Given the description of an element on the screen output the (x, y) to click on. 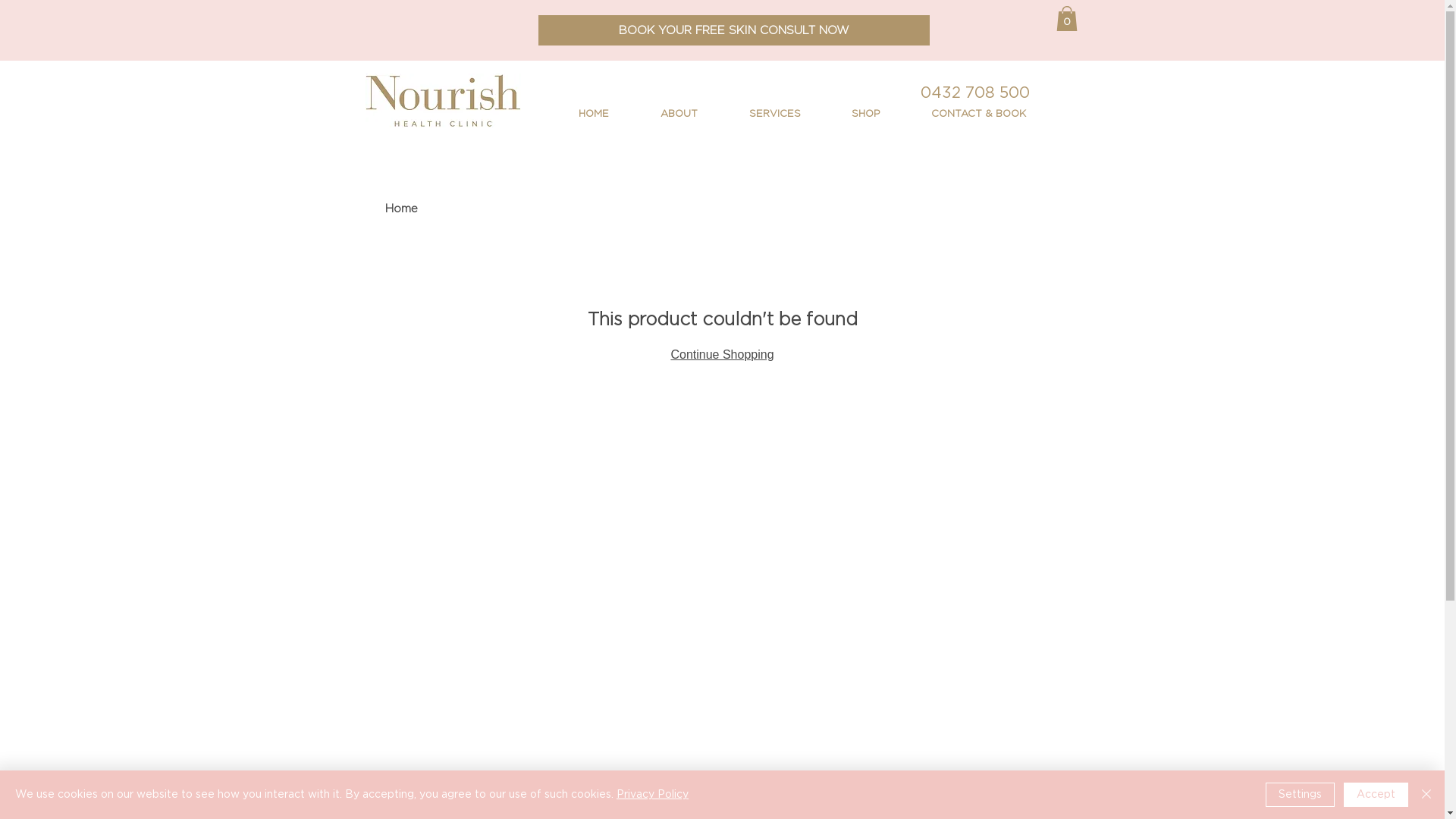
ABOUT Element type: text (659, 114)
BOOK YOUR FREE SKIN CONSULT NOW Element type: text (733, 30)
SHOP Element type: text (848, 114)
Accept Element type: text (1375, 794)
Continue Shopping Element type: text (721, 354)
Home Element type: text (401, 208)
CONTACT & BOOK Element type: text (959, 114)
HOME Element type: text (574, 114)
Settings Element type: text (1299, 794)
Privacy Policy Element type: text (652, 794)
SERVICES Element type: text (756, 114)
0 Element type: text (1065, 18)
